Given the description of an element on the screen output the (x, y) to click on. 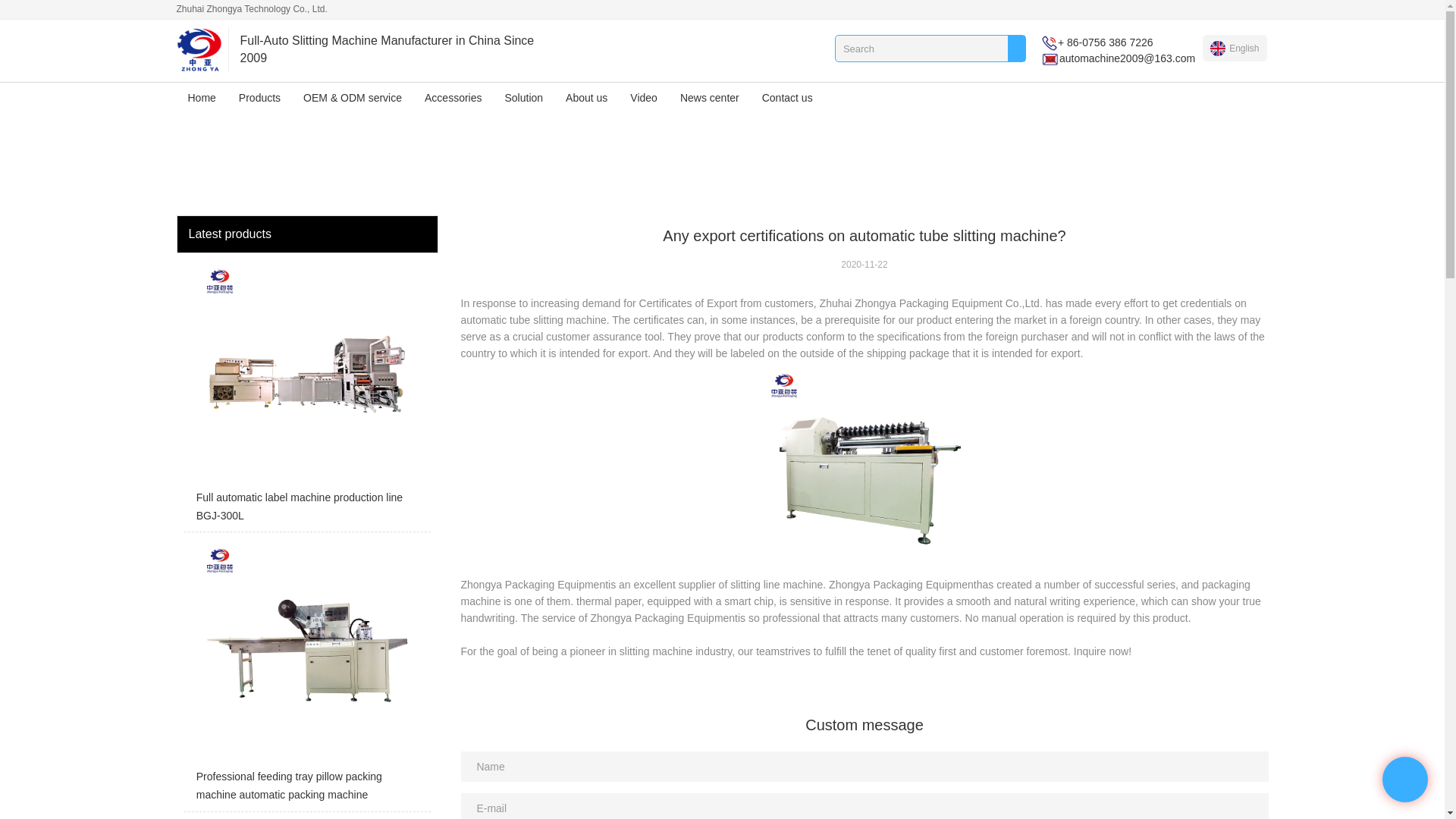
About us (586, 97)
Accessories (453, 97)
Products (259, 97)
Solution (523, 97)
News center (709, 97)
Contact us (787, 97)
Full automatic label machine production line BGJ-300L (306, 396)
English (1234, 47)
Home (201, 97)
Video (643, 97)
